Given the description of an element on the screen output the (x, y) to click on. 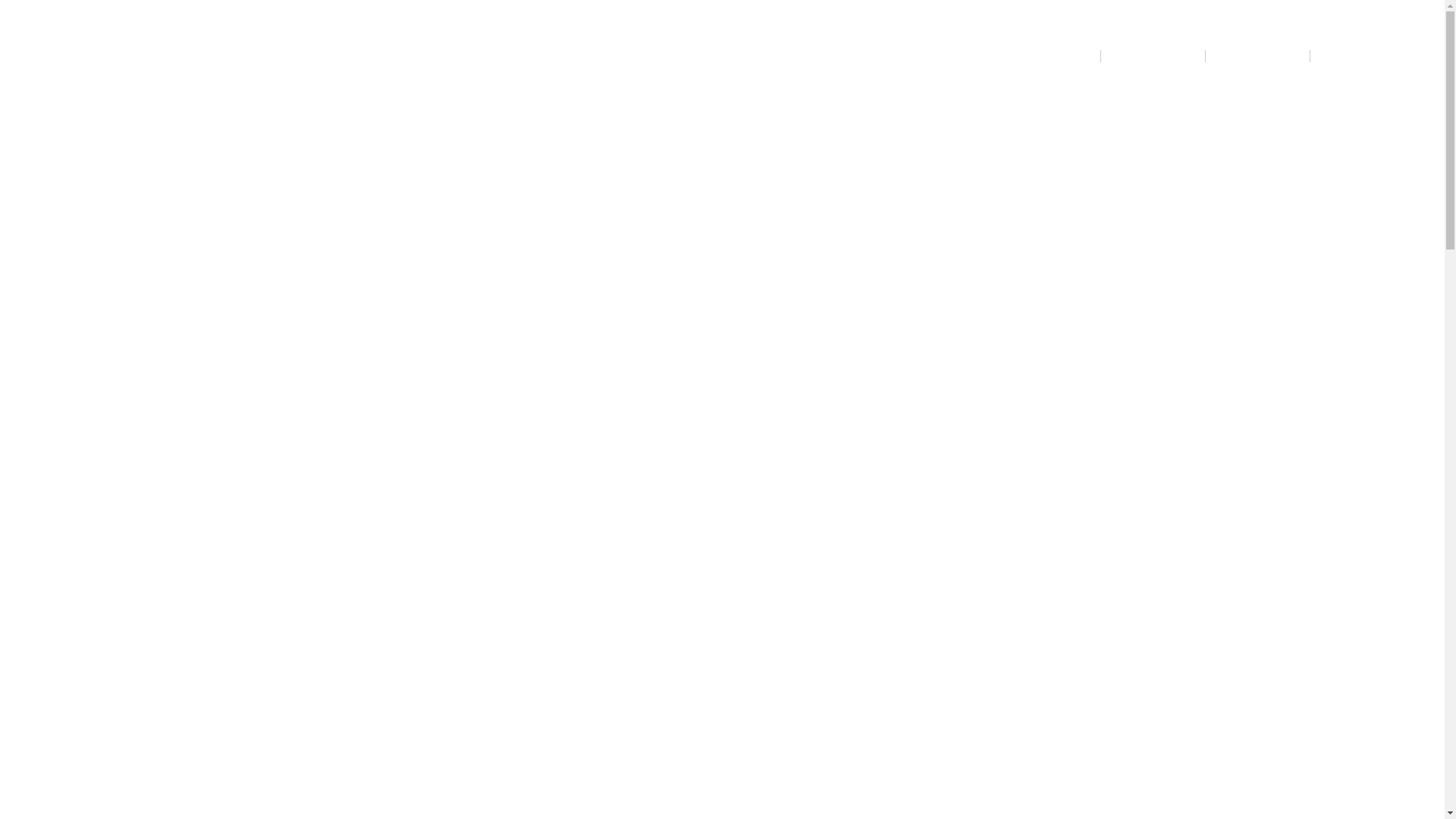
WHO WE ARE Element type: text (1152, 55)
HOME Element type: text (1068, 55)
WHAT WE DO Element type: text (1257, 63)
CONTACT US Element type: text (1362, 55)
